Given the description of an element on the screen output the (x, y) to click on. 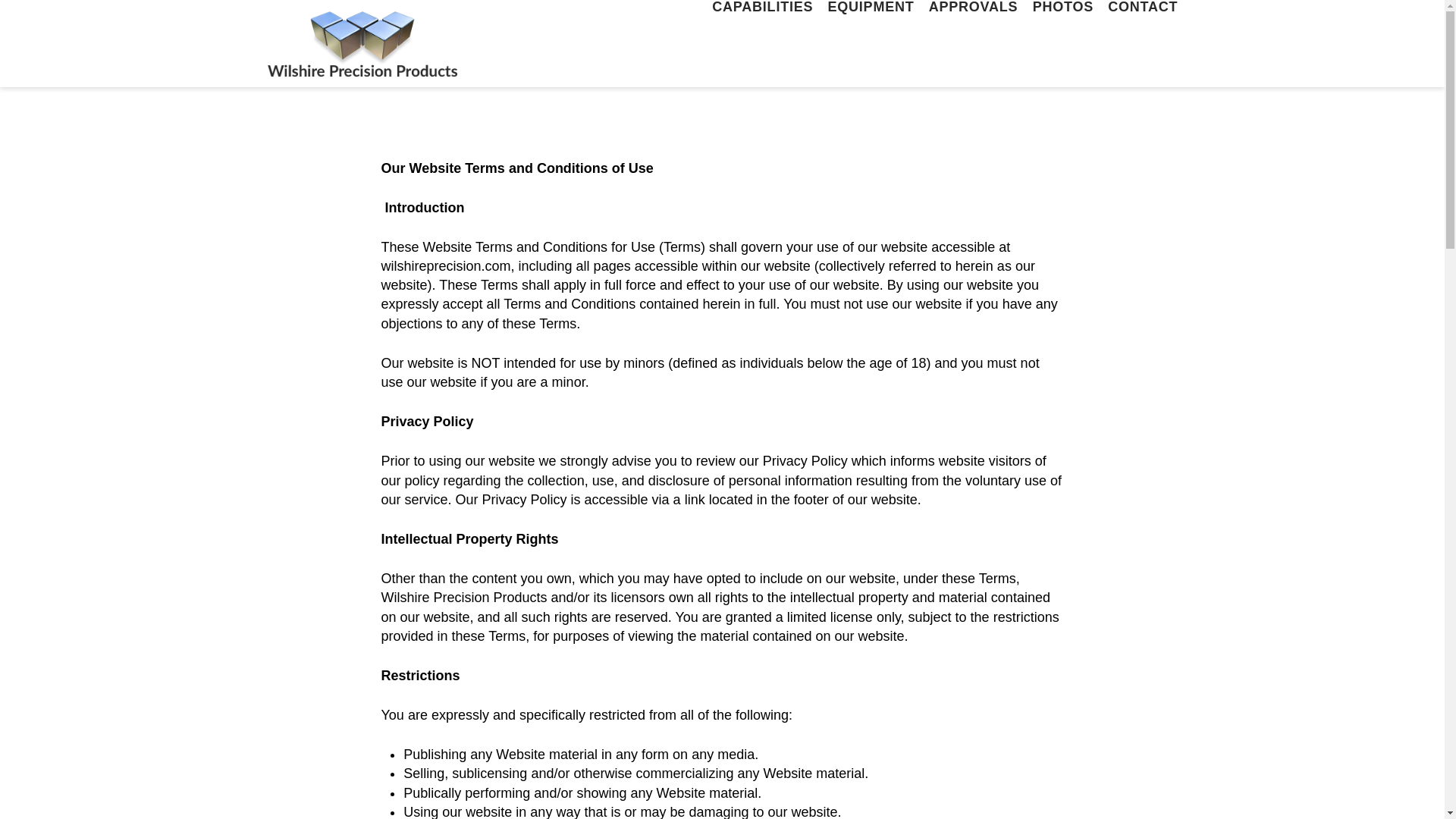
CAPABILITIES (761, 43)
APPROVALS (973, 43)
EQUIPMENT (871, 43)
